Given the description of an element on the screen output the (x, y) to click on. 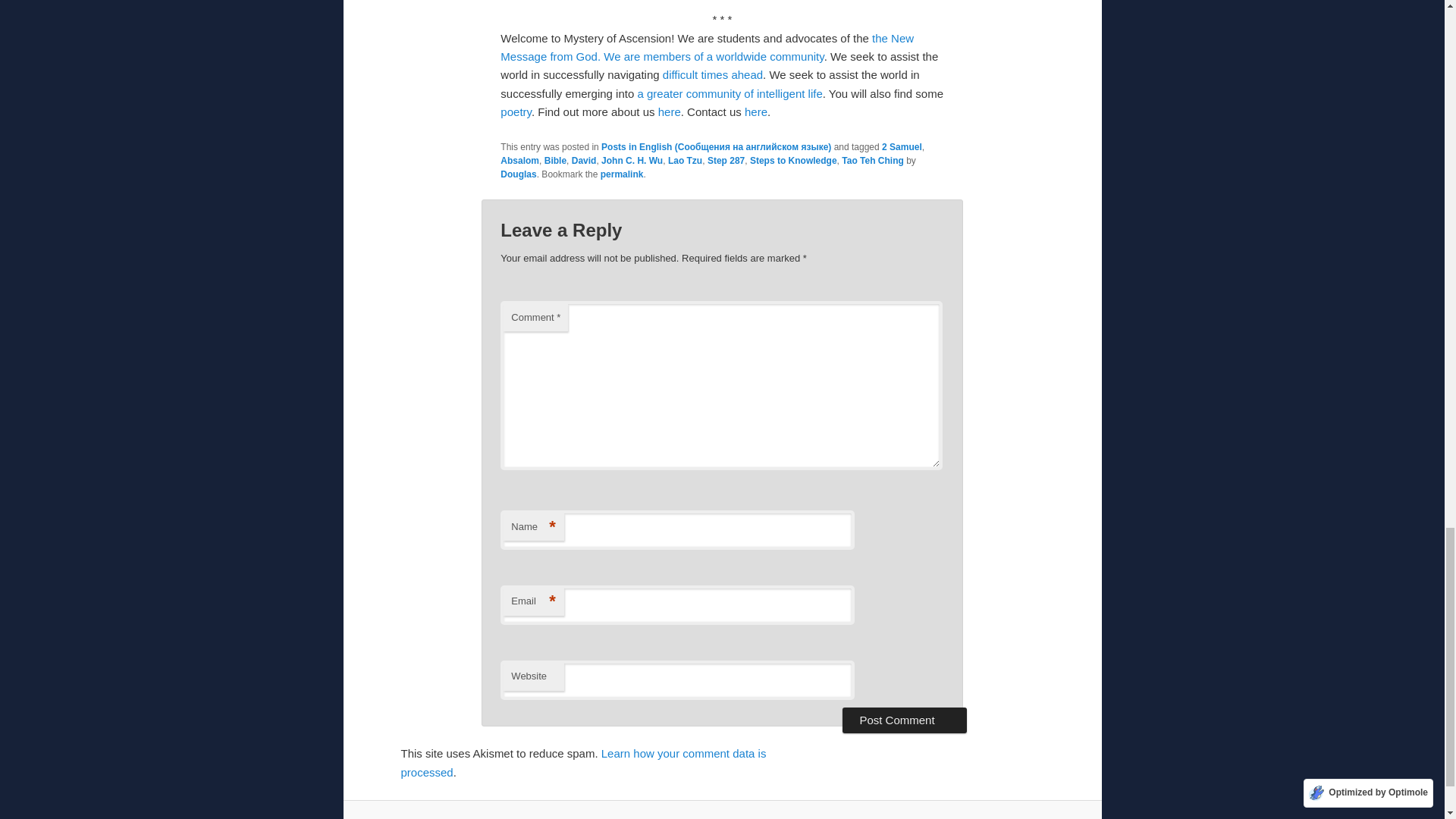
The Great Waves of Change (712, 74)
Permalink to Even A Victory Is A Funeral (621, 173)
here (669, 111)
The Worldwide Community of God's New Message (770, 56)
Tao Teh Ching (872, 160)
Learn how your comment data is processed (582, 762)
Step 287 (725, 160)
Douglas (517, 173)
Mystery of Ascension: About (669, 111)
The Greater Community (729, 92)
